Given the description of an element on the screen output the (x, y) to click on. 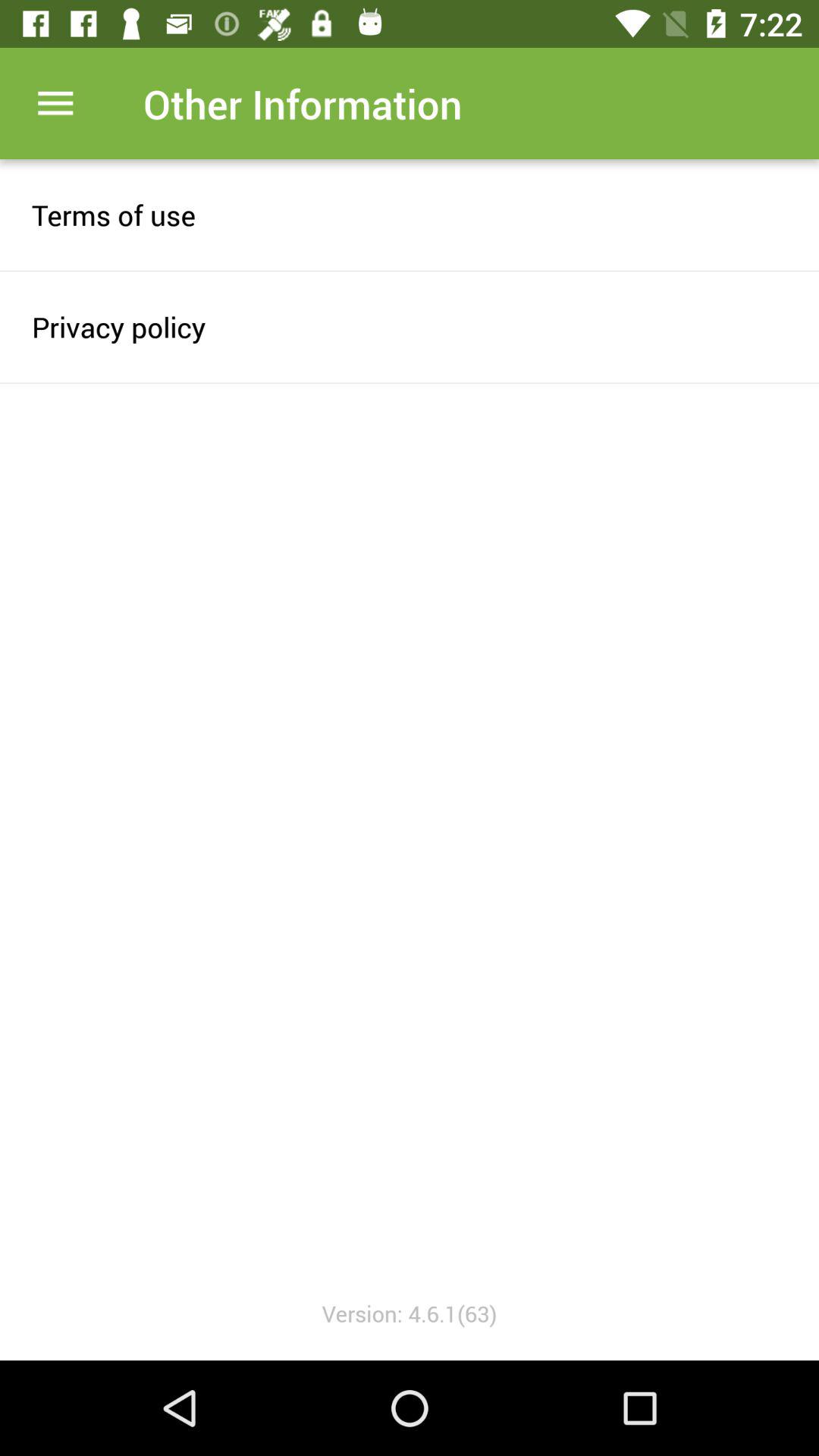
tap item next to other information item (55, 103)
